Given the description of an element on the screen output the (x, y) to click on. 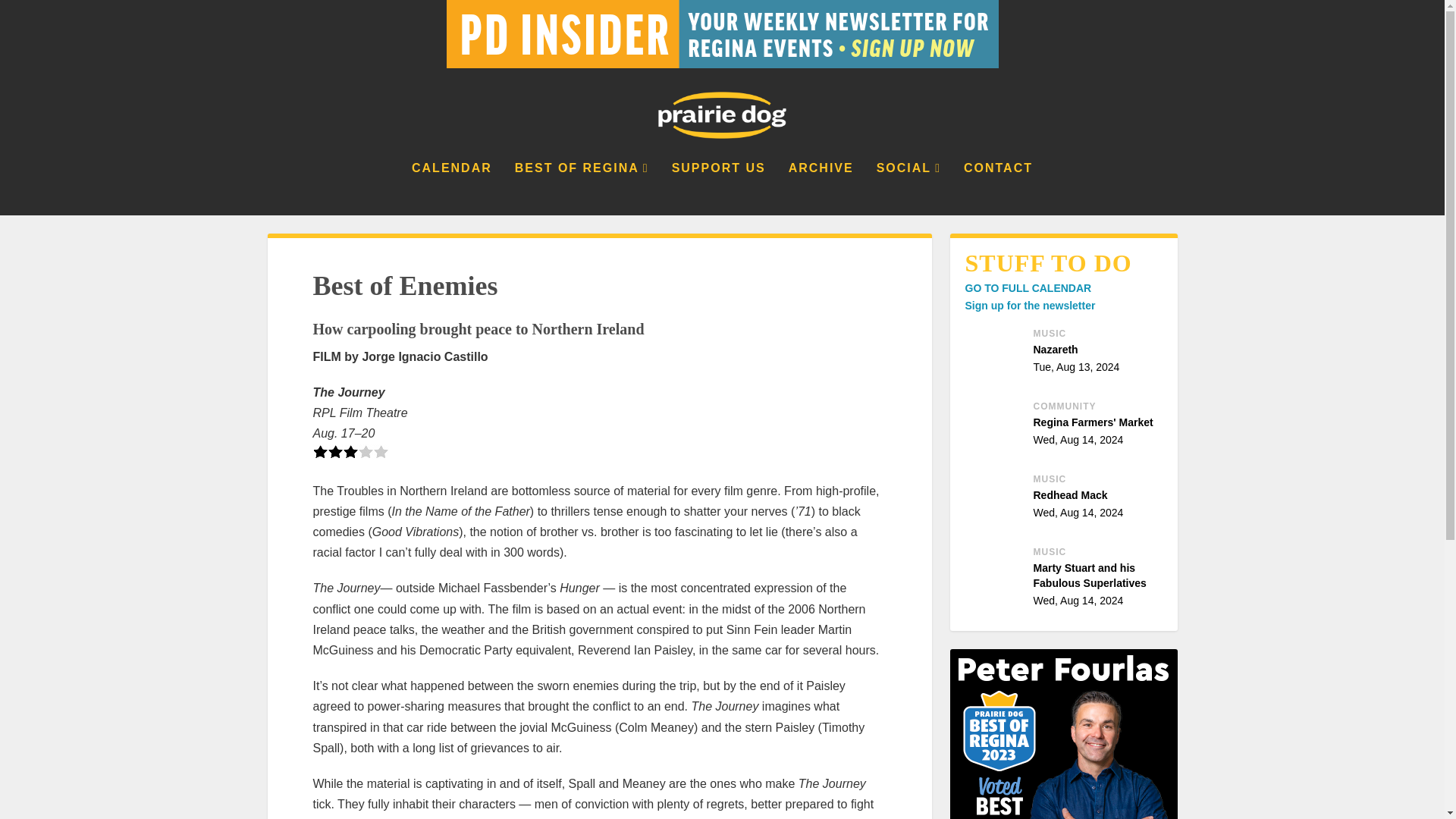
CONTACT (1066, 500)
ARCHIVE (997, 188)
SOCIAL (1066, 428)
GO TO FULL CALENDAR (821, 188)
BEST OF REGINA (1066, 355)
Sign up for the newsletter (908, 188)
SUPPORT US (1026, 287)
